Given the description of an element on the screen output the (x, y) to click on. 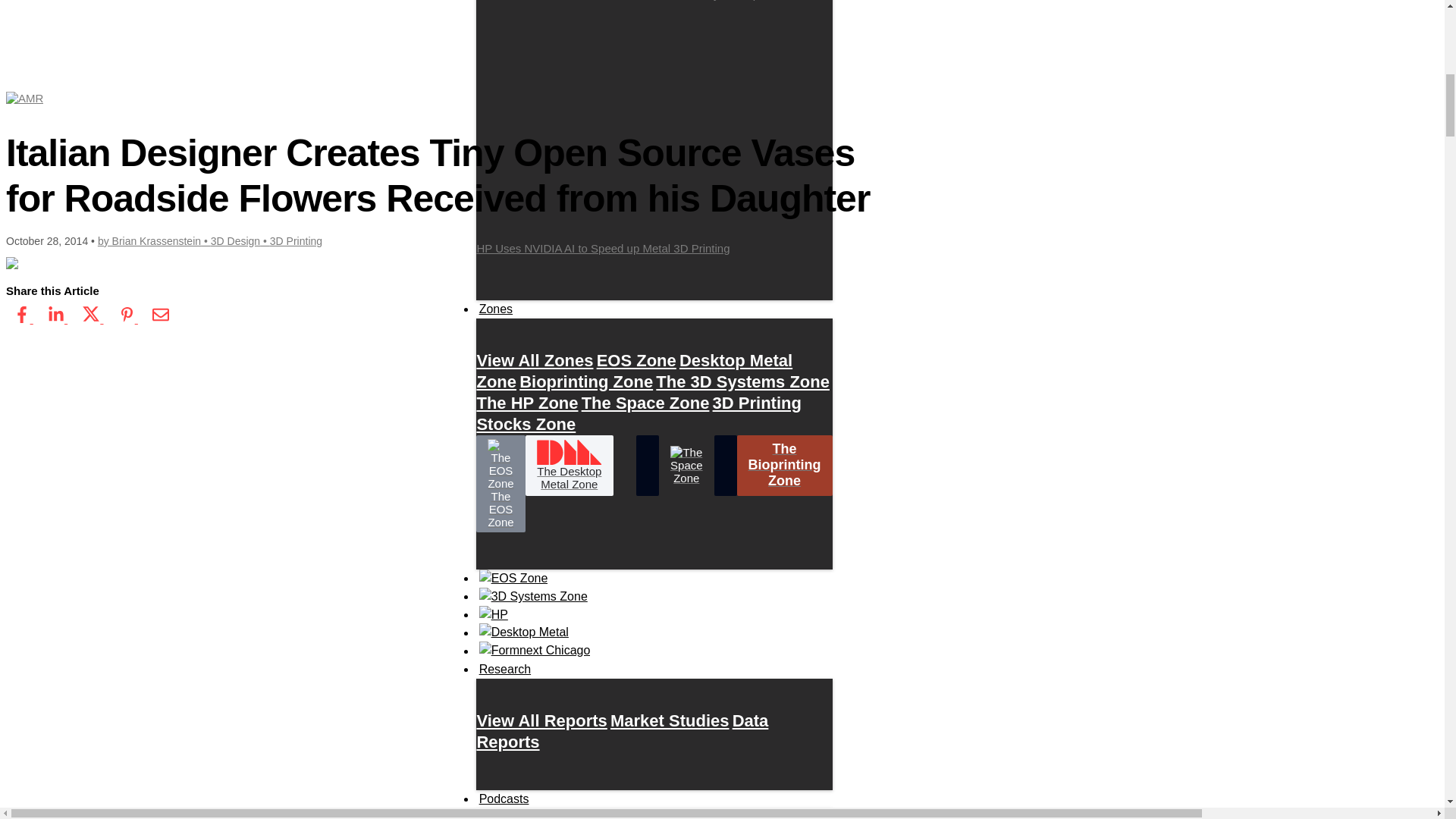
The EOS Zone (500, 483)
View All Zones (534, 359)
EOS Zone (636, 359)
Desktop Metal Zone (634, 370)
3D Printing Stocks Zone (638, 412)
Zones (495, 309)
The 3D Systems Zone (742, 380)
Bioprinting Zone (585, 380)
The Desktop Metal Zone (568, 465)
The HP Zone (527, 401)
HP Uses NVIDIA AI to Speed up Metal 3D Printing (653, 132)
The Space Zone (645, 401)
